Given the description of an element on the screen output the (x, y) to click on. 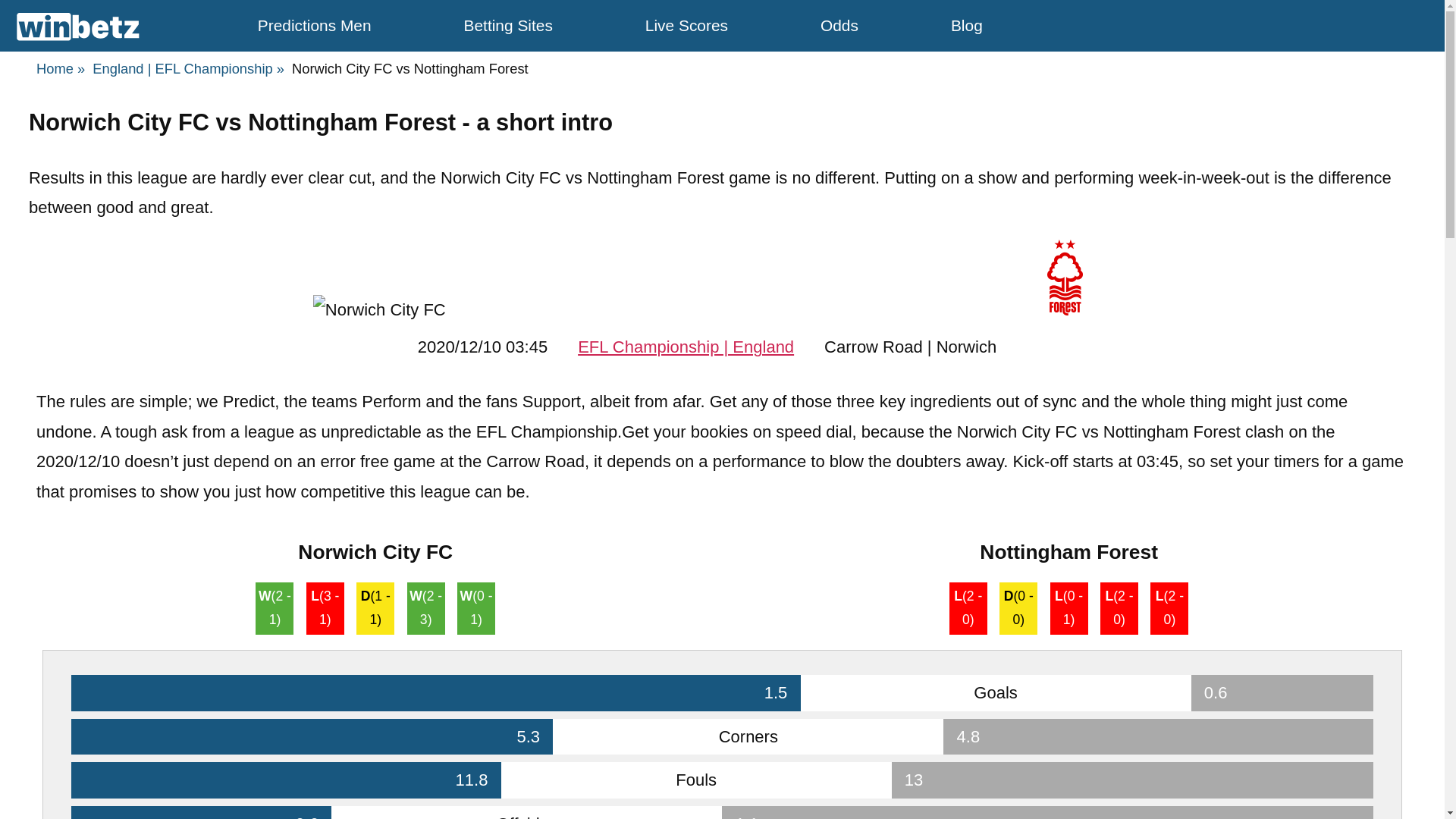
Norwich City FC (379, 309)
Nottingham Forest (1065, 277)
Home (60, 68)
Live Scores (686, 25)
Blog (966, 25)
Betting Sites (508, 25)
Odds (840, 25)
Go to Home (60, 68)
